Given the description of an element on the screen output the (x, y) to click on. 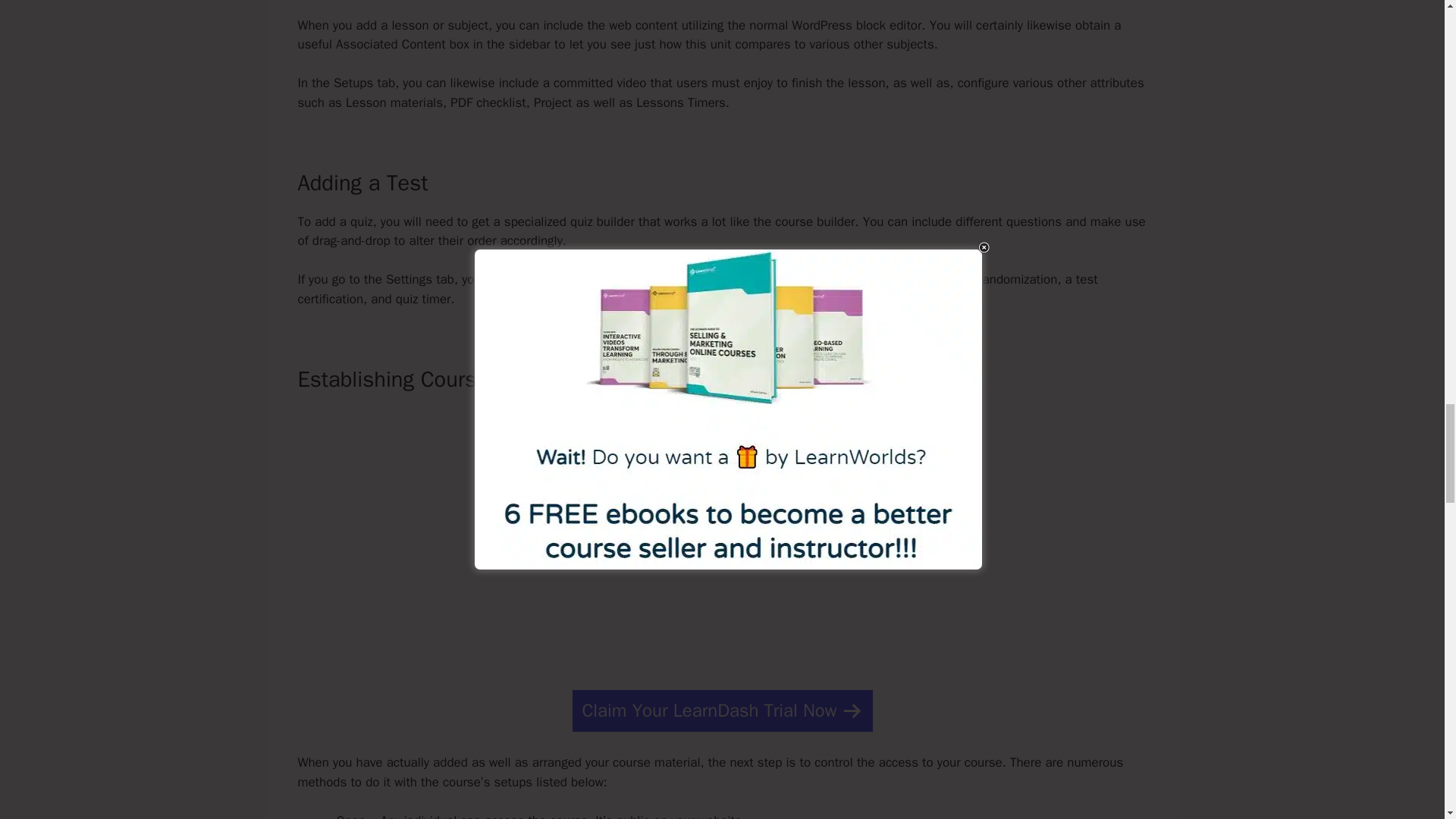
Claim Your LearnDash Trial Now (722, 711)
